Given the description of an element on the screen output the (x, y) to click on. 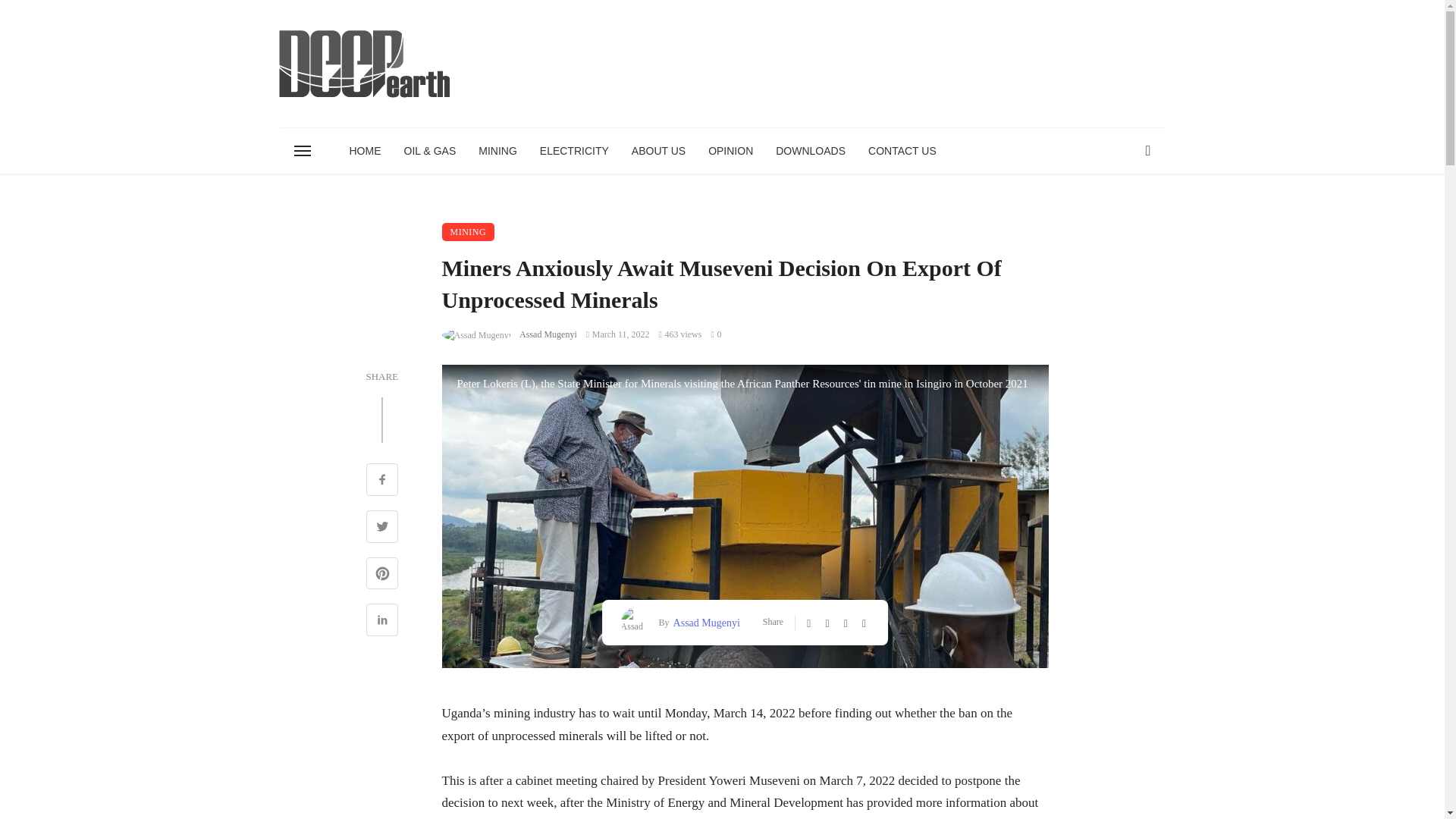
MINING (497, 150)
ABOUT US (658, 150)
HOME (365, 150)
Share on Linkedin (381, 621)
0 (715, 334)
DOWNLOADS (810, 150)
Assad Mugenyi (704, 622)
ELECTRICITY (574, 150)
Assad Mugenyi (545, 334)
CONTACT US (902, 150)
